Given the description of an element on the screen output the (x, y) to click on. 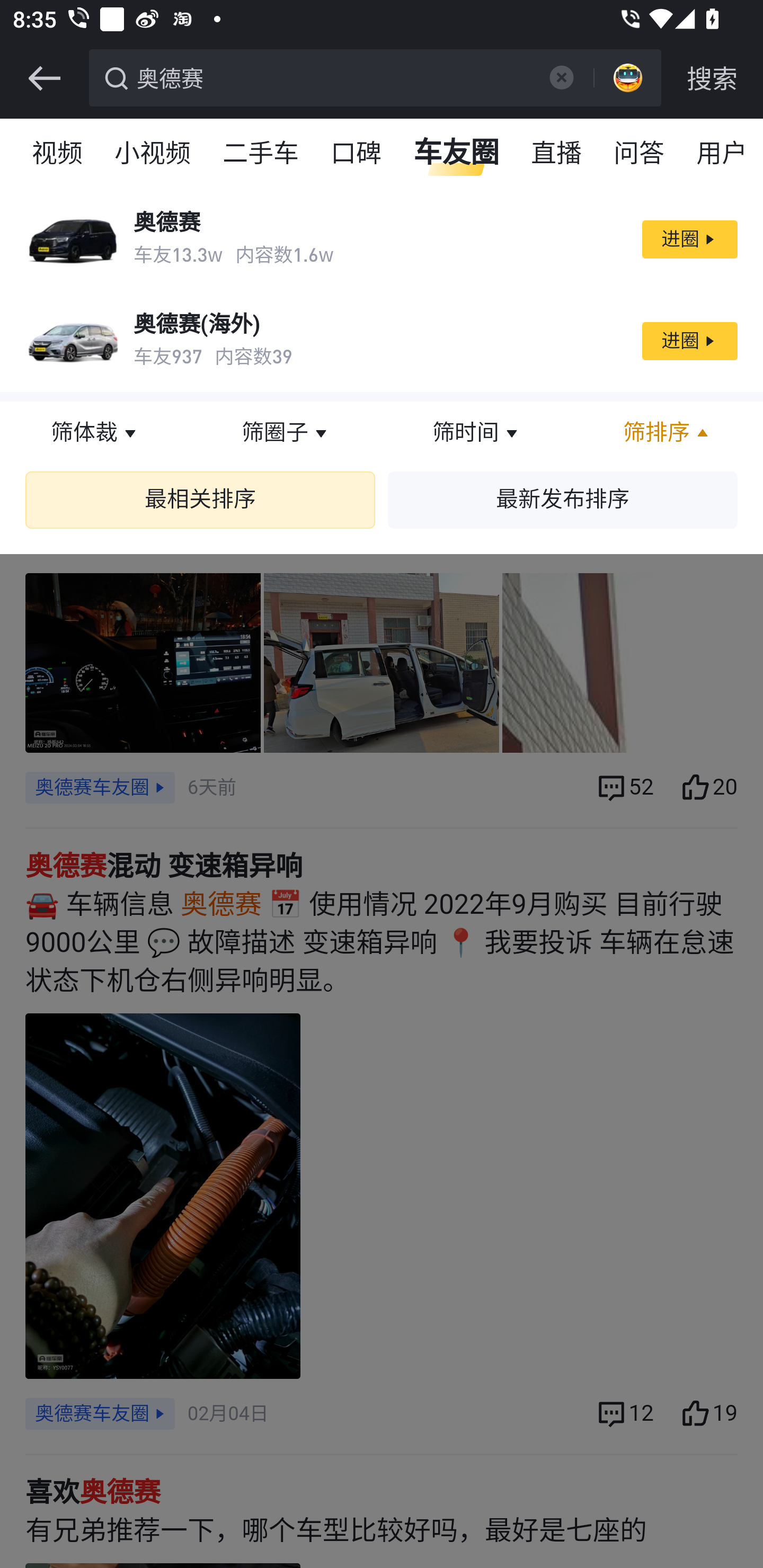
奥德赛 (331, 76)
 (560, 77)
 (44, 78)
搜索 (711, 78)
视频 (57, 153)
小视频 (153, 153)
二手车 (261, 153)
口碑 (356, 153)
车友圈 (456, 153)
直播 (556, 153)
问答 (639, 153)
用户 (721, 153)
奥德赛 车友13.3w内容数1.6w 进圈 (381, 239)
进圈 (688, 239)
奥德赛(海外) 车友937内容数39 进圈 (381, 341)
进圈 (688, 340)
筛体裁 (95, 433)
筛圈子 (285, 433)
筛时间 (476, 433)
筛排序 (667, 433)
